Given the description of an element on the screen output the (x, y) to click on. 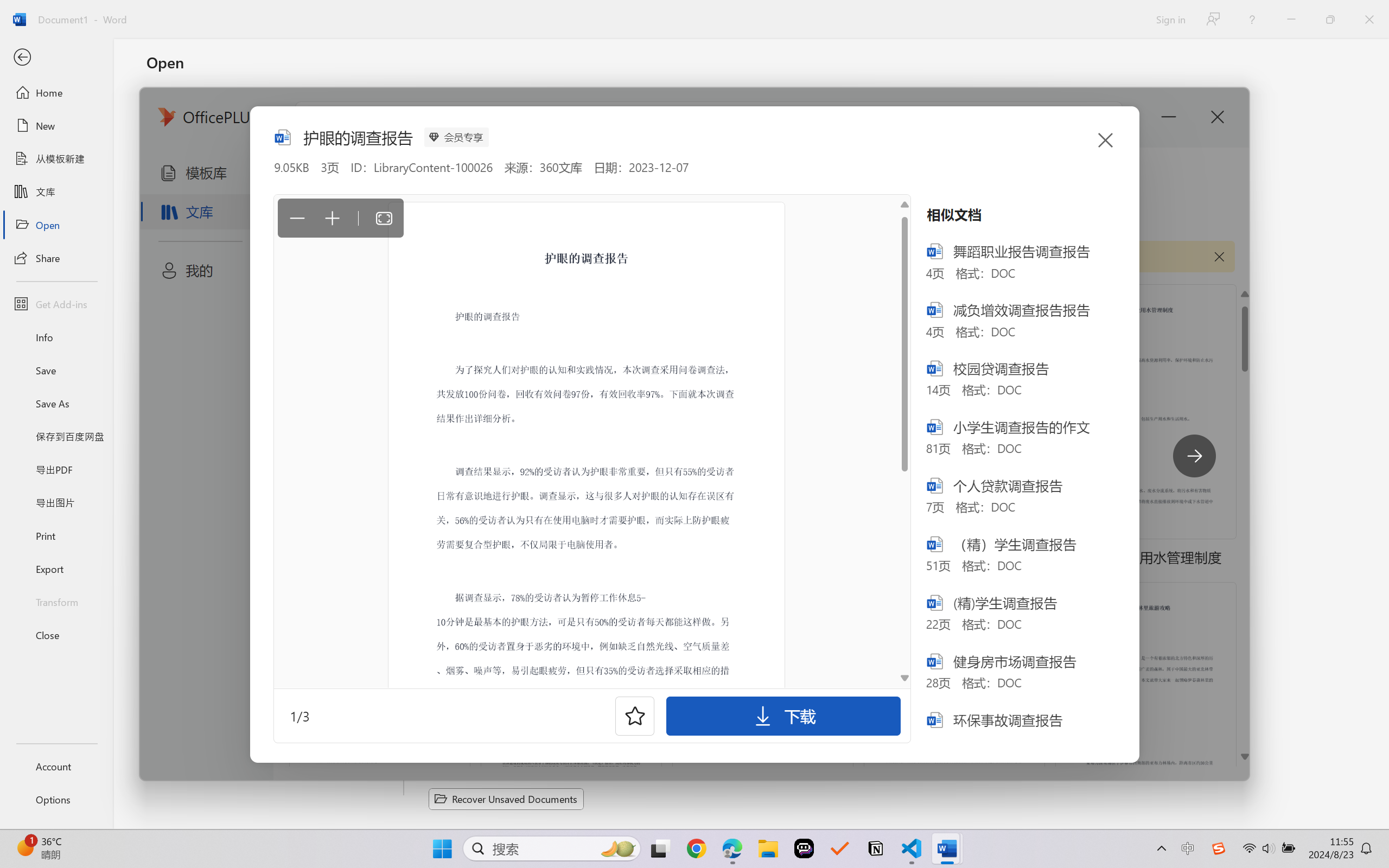
Sign in (1170, 18)
Print (56, 535)
Account (56, 765)
